Given the description of an element on the screen output the (x, y) to click on. 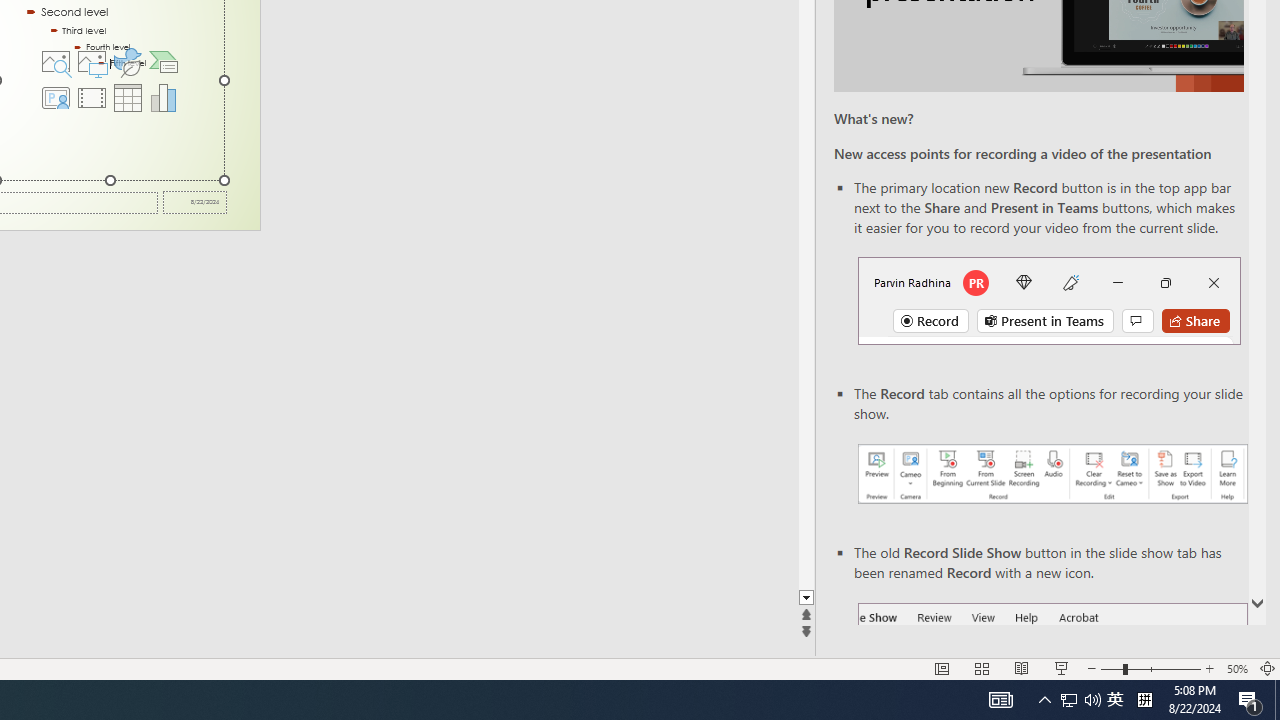
Insert Video (91, 97)
Insert a SmartArt Graphic (164, 61)
Insert Table (127, 97)
Record your presentations screenshot one (1052, 473)
Stock Images (55, 61)
Insert an Icon (127, 61)
Insert Chart (164, 97)
